Given the description of an element on the screen output the (x, y) to click on. 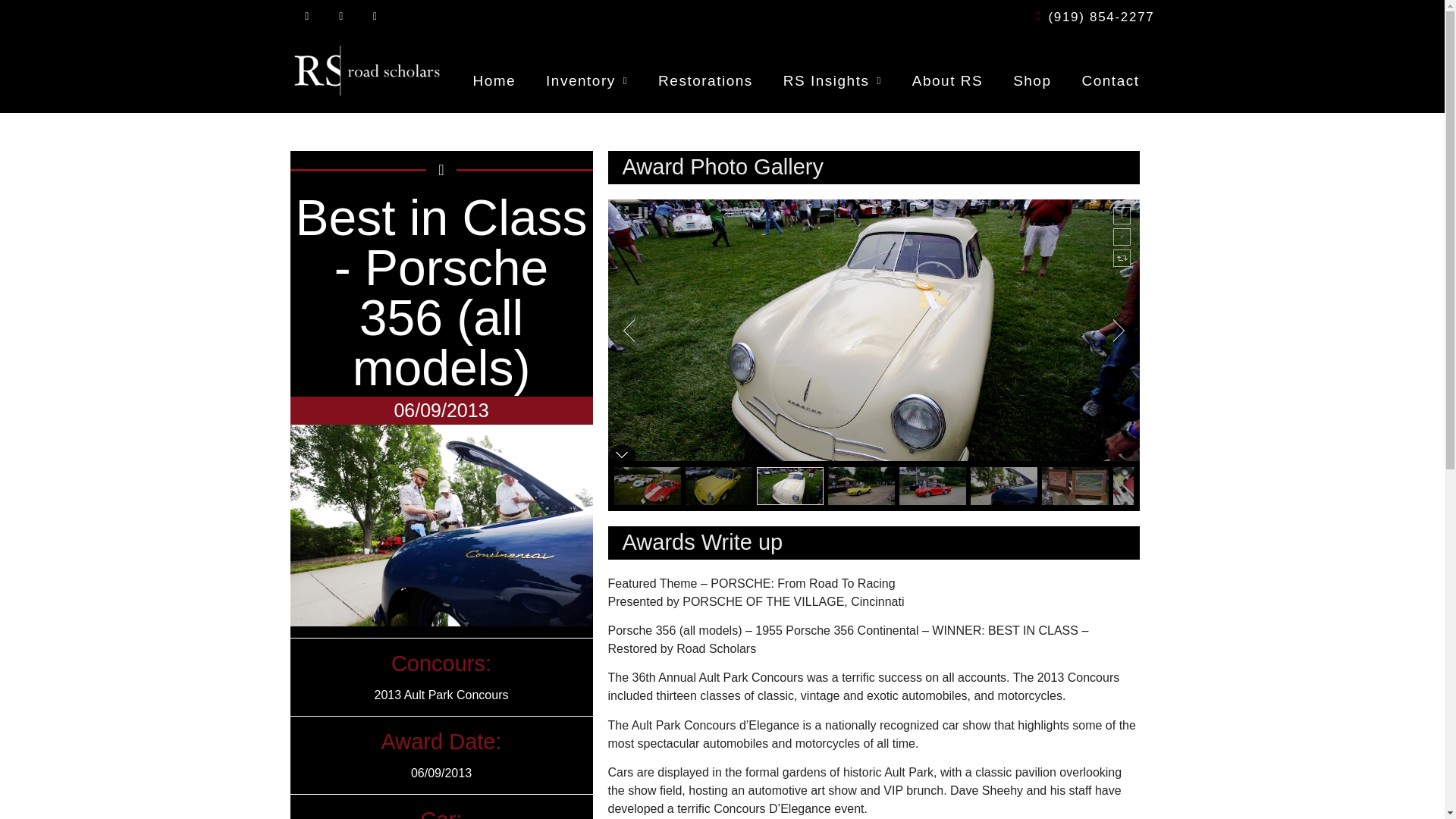
RS Insights (832, 80)
About RS (946, 80)
Restorations (705, 80)
Contact (1109, 80)
Shop (1031, 80)
Home (494, 80)
Inventory (587, 80)
